Given the description of an element on the screen output the (x, y) to click on. 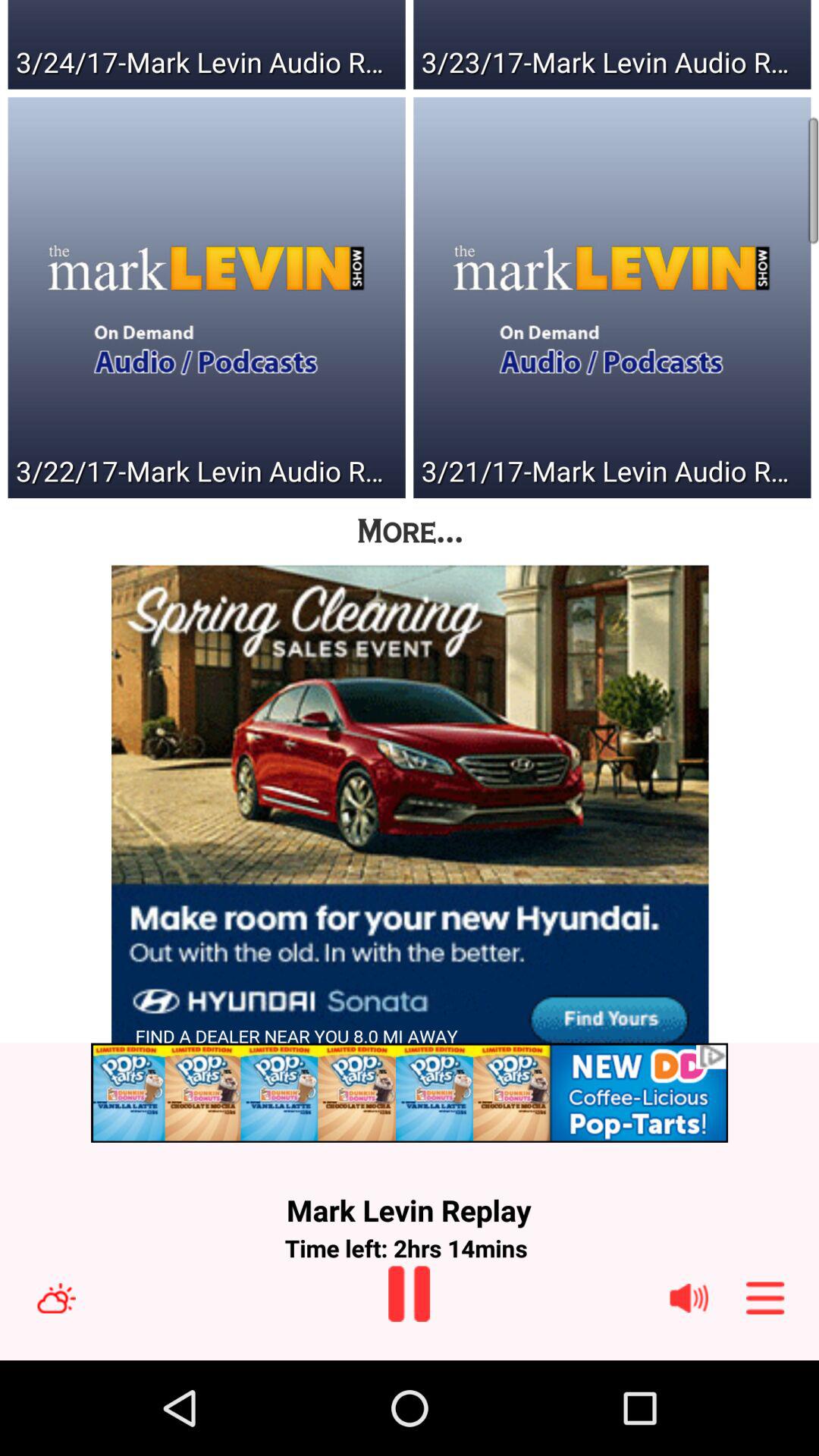
access the menu (765, 1298)
